Given the description of an element on the screen output the (x, y) to click on. 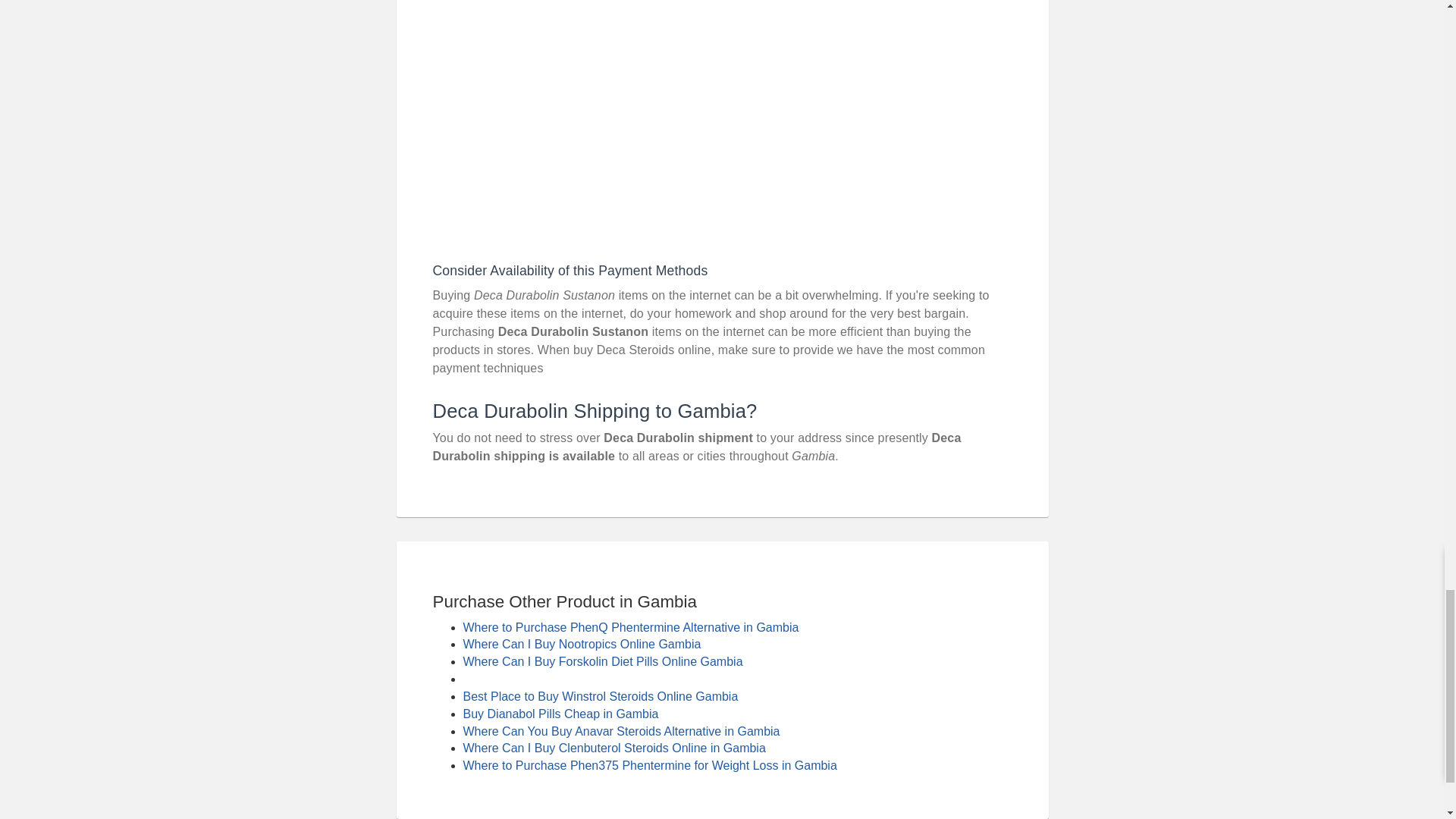
Where Can I Buy Nootropics Online Gambia (581, 644)
Where Can You Buy Anavar Steroids Alternative in Gambia (620, 730)
Where to Purchase PhenQ Phentermine Alternative in Gambia (630, 626)
Buy Dianabol Pills Cheap in Gambia (560, 713)
Where Can I Buy Nootropics Online Gambia (581, 644)
Where Can I Buy Forskolin Diet Pills Online Gambia (602, 661)
Where Can I Buy Clenbuterol Steroids Online in Gambia (614, 748)
Where Can You Buy Anavar Steroids Alternative in Gambia (620, 730)
Where Can I Buy Clenbuterol Steroids Online in Gambia (614, 748)
Where Can I Buy Forskolin Diet Pills Online Gambia (602, 661)
Where to Purchase PhenQ Phentermine Alternative in Gambia (630, 626)
Buy Dianabol Pills Cheap in Gambia (560, 713)
Best Place to Buy Winstrol Steroids Online Gambia (600, 696)
